Given the description of an element on the screen output the (x, y) to click on. 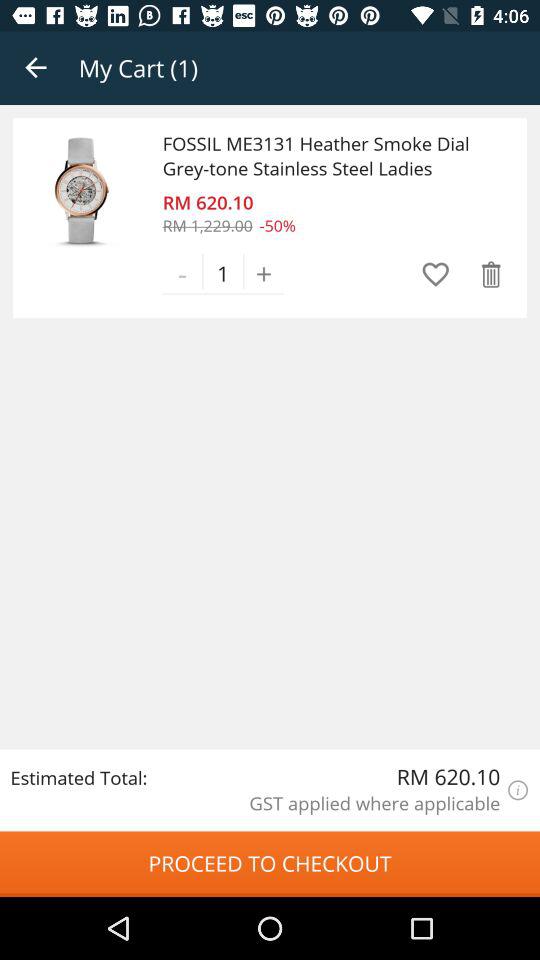
swipe until the proceed to checkout icon (270, 863)
